Given the description of an element on the screen output the (x, y) to click on. 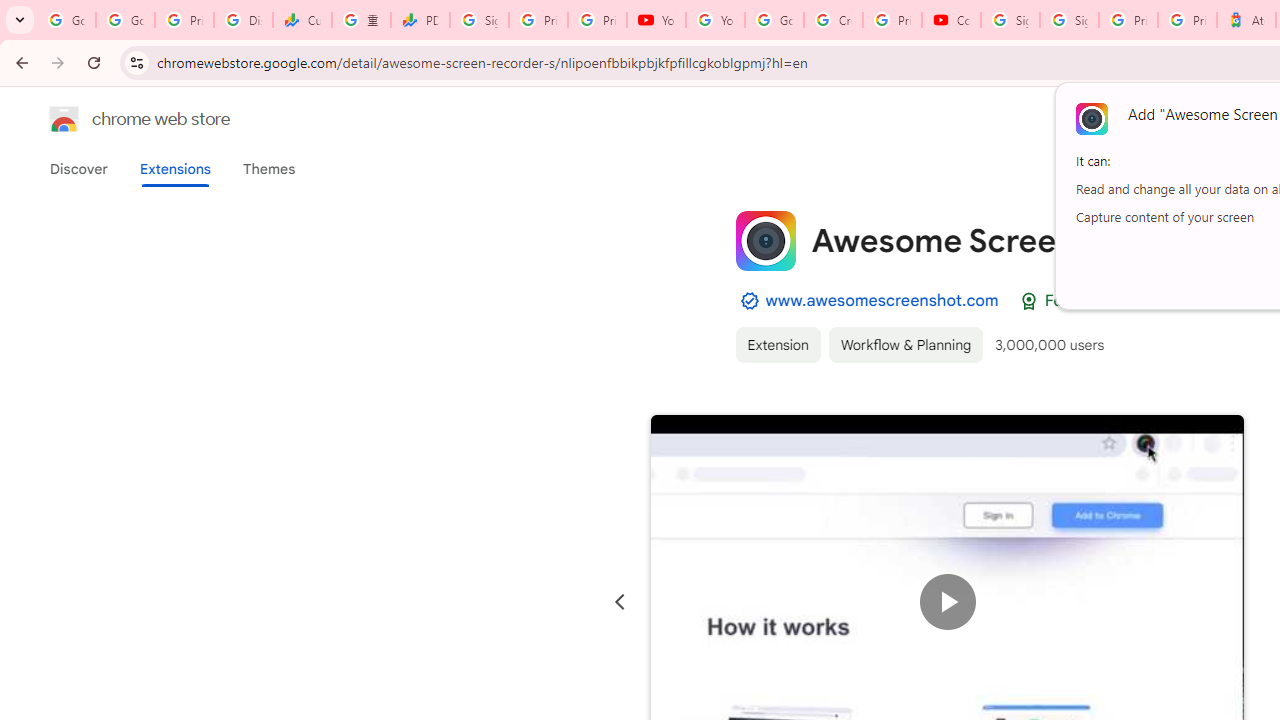
Item media 1 video (947, 601)
YouTube (715, 20)
Sign in - Google Accounts (479, 20)
Previous slide (619, 601)
Themes (269, 169)
PDD Holdings Inc - ADR (PDD) Price & News - Google Finance (420, 20)
YouTube (656, 20)
